Given the description of an element on the screen output the (x, y) to click on. 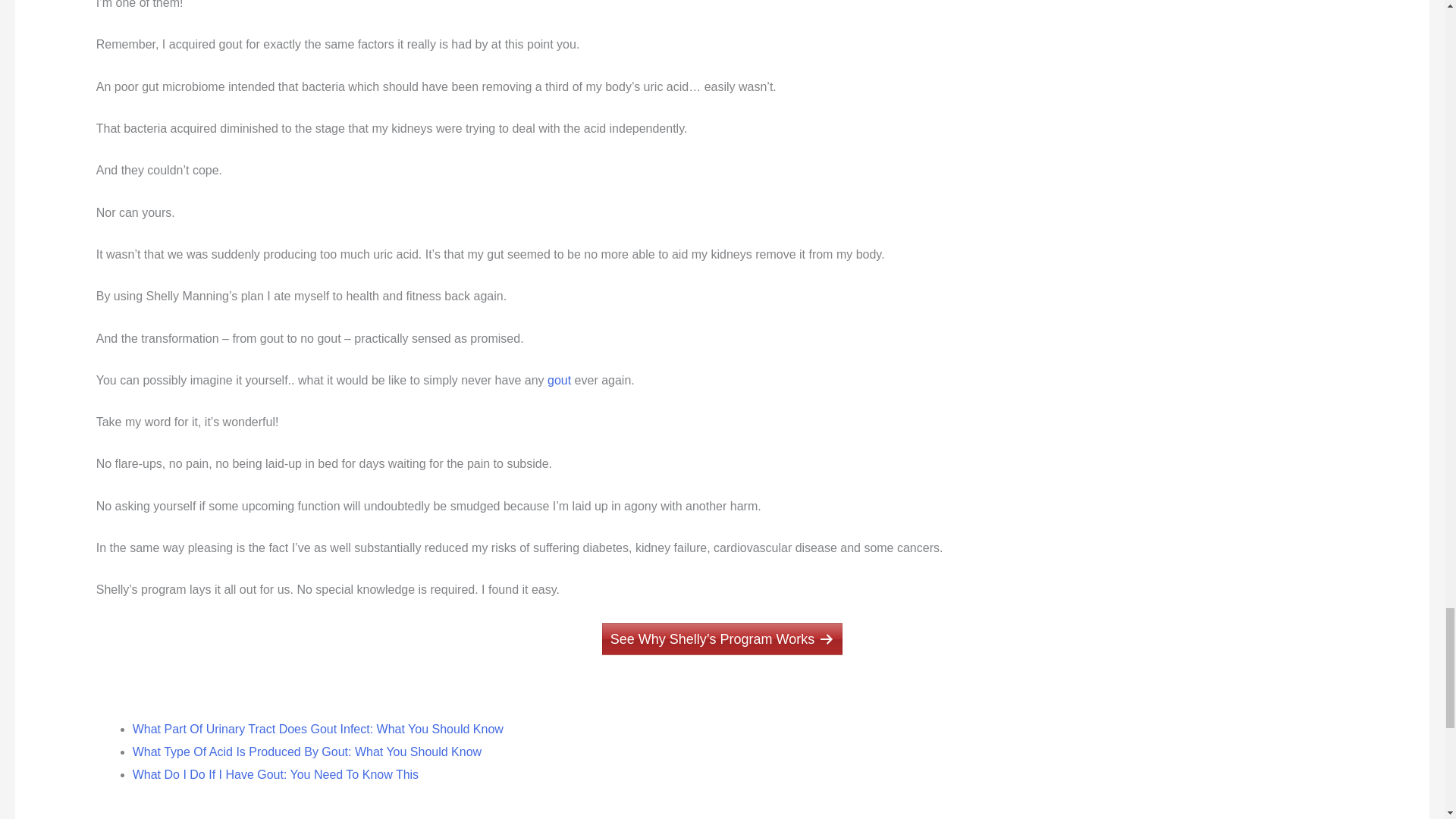
What Do I Do If I Have Gout: You Need To Know This (275, 774)
What Type Of Acid Is Produced By Gout: What You Should Know (306, 751)
gout (558, 379)
